Given the description of an element on the screen output the (x, y) to click on. 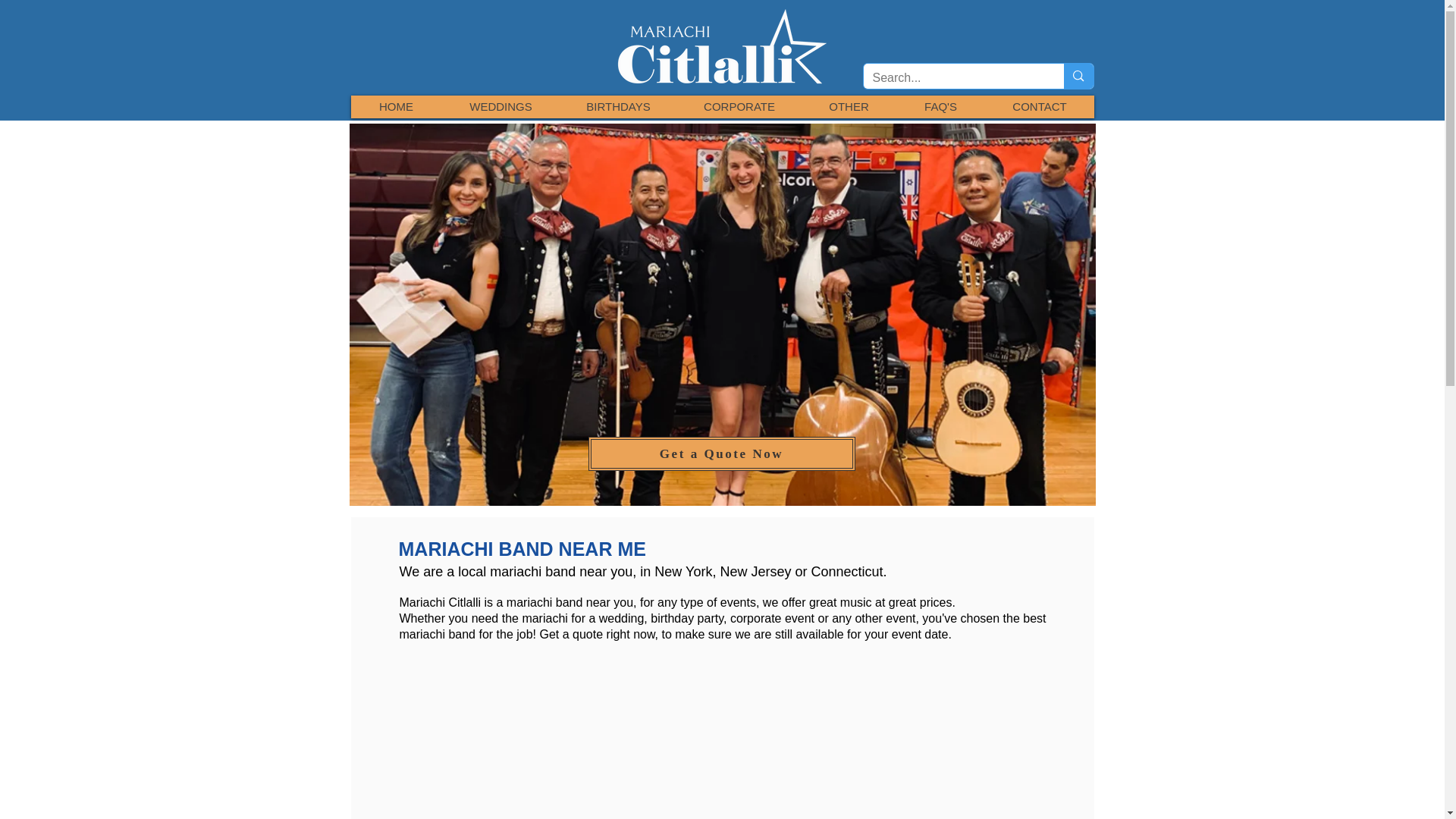
WEDDINGS (500, 106)
CORPORATE (738, 106)
BIRTHDAYS (618, 106)
CONTACT (1038, 106)
Get a Quote Now (722, 453)
FAQ'S (940, 106)
HOME (395, 106)
OTHER (847, 106)
